Given the description of an element on the screen output the (x, y) to click on. 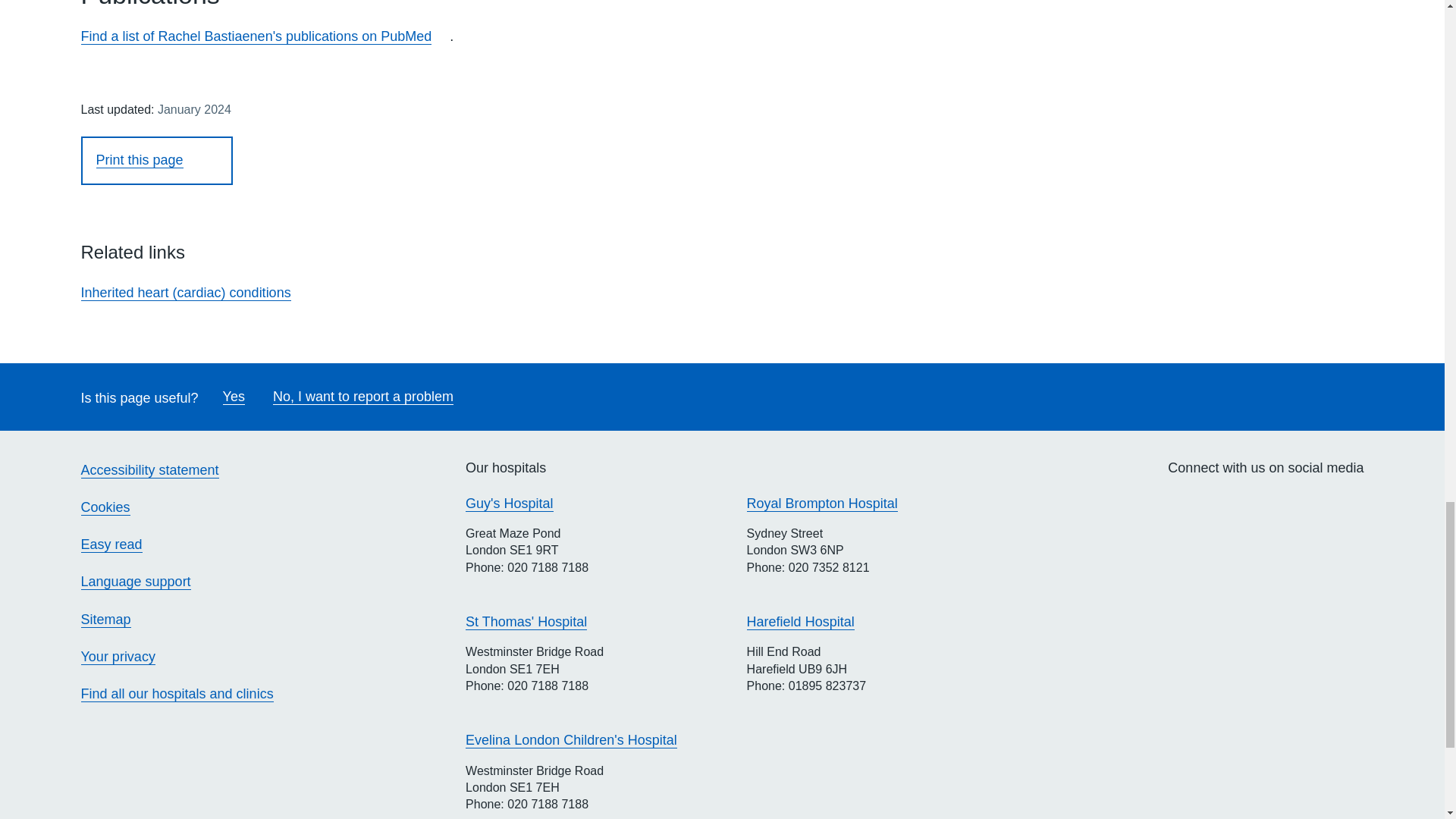
Rachel Bastiaenen's publications (255, 36)
